Given the description of an element on the screen output the (x, y) to click on. 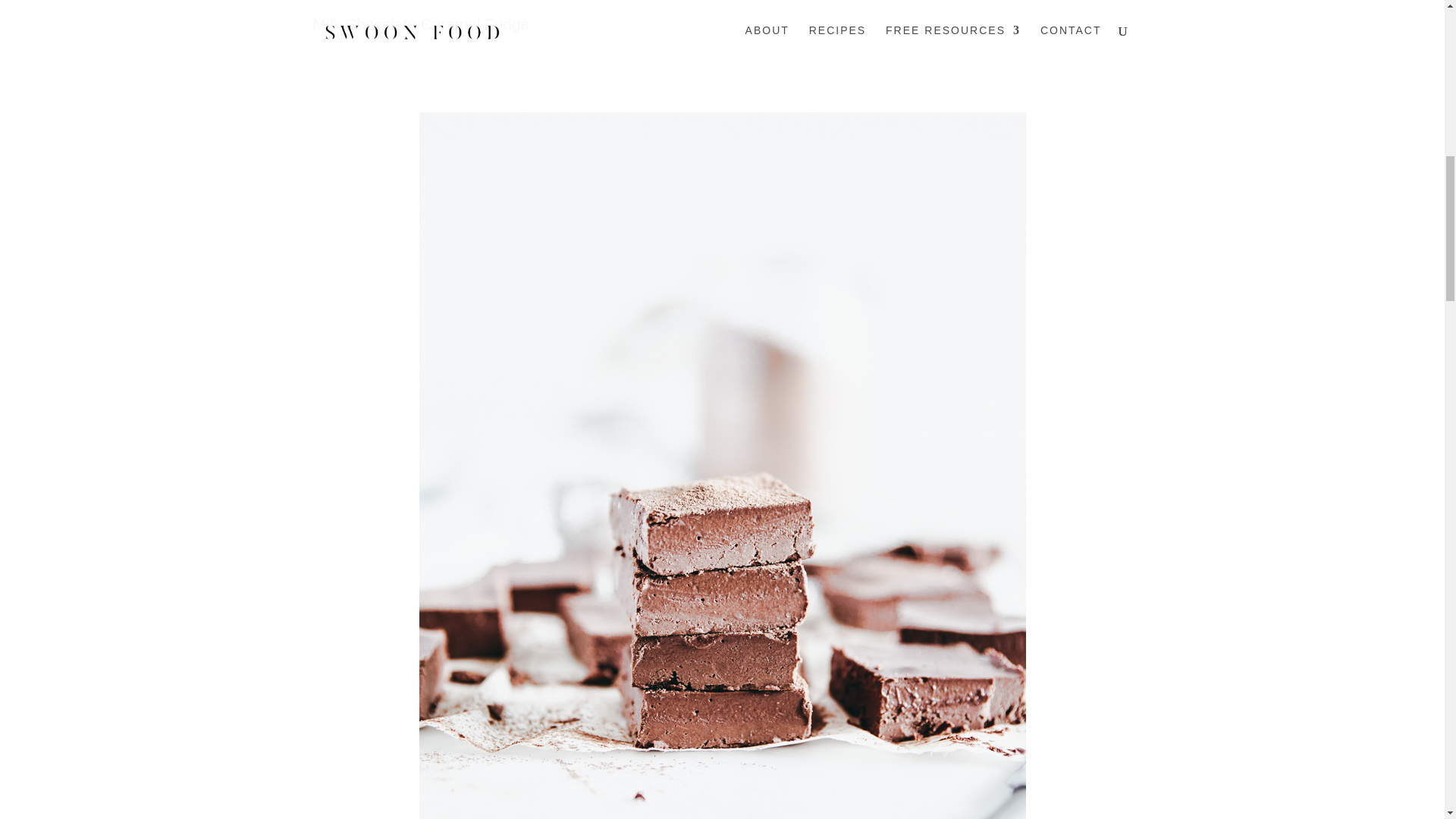
Milk Chocolate Caramel Fudge (421, 23)
